Given the description of an element on the screen output the (x, y) to click on. 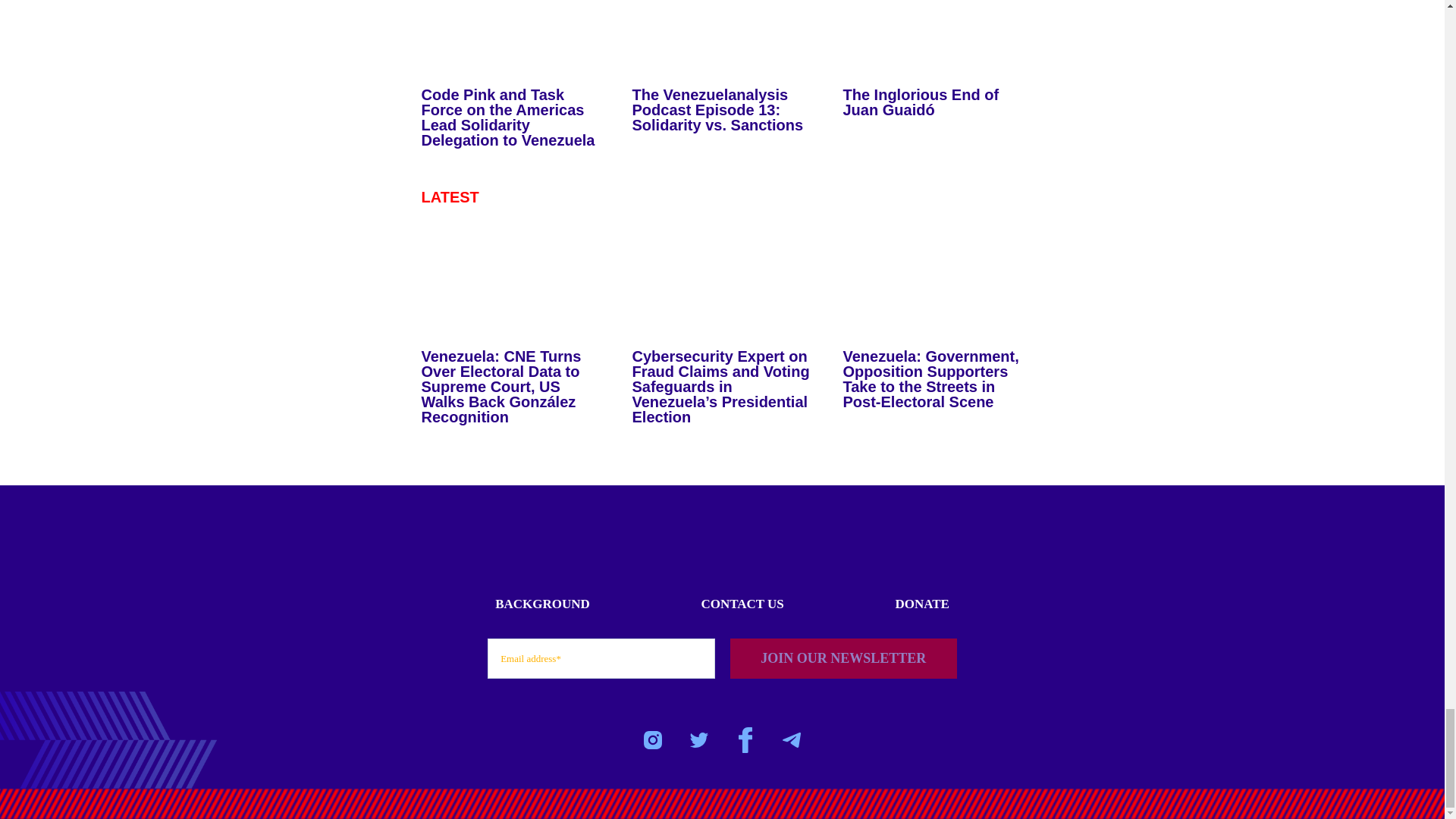
JOIN OUR NEWSLETTER (842, 658)
